Given the description of an element on the screen output the (x, y) to click on. 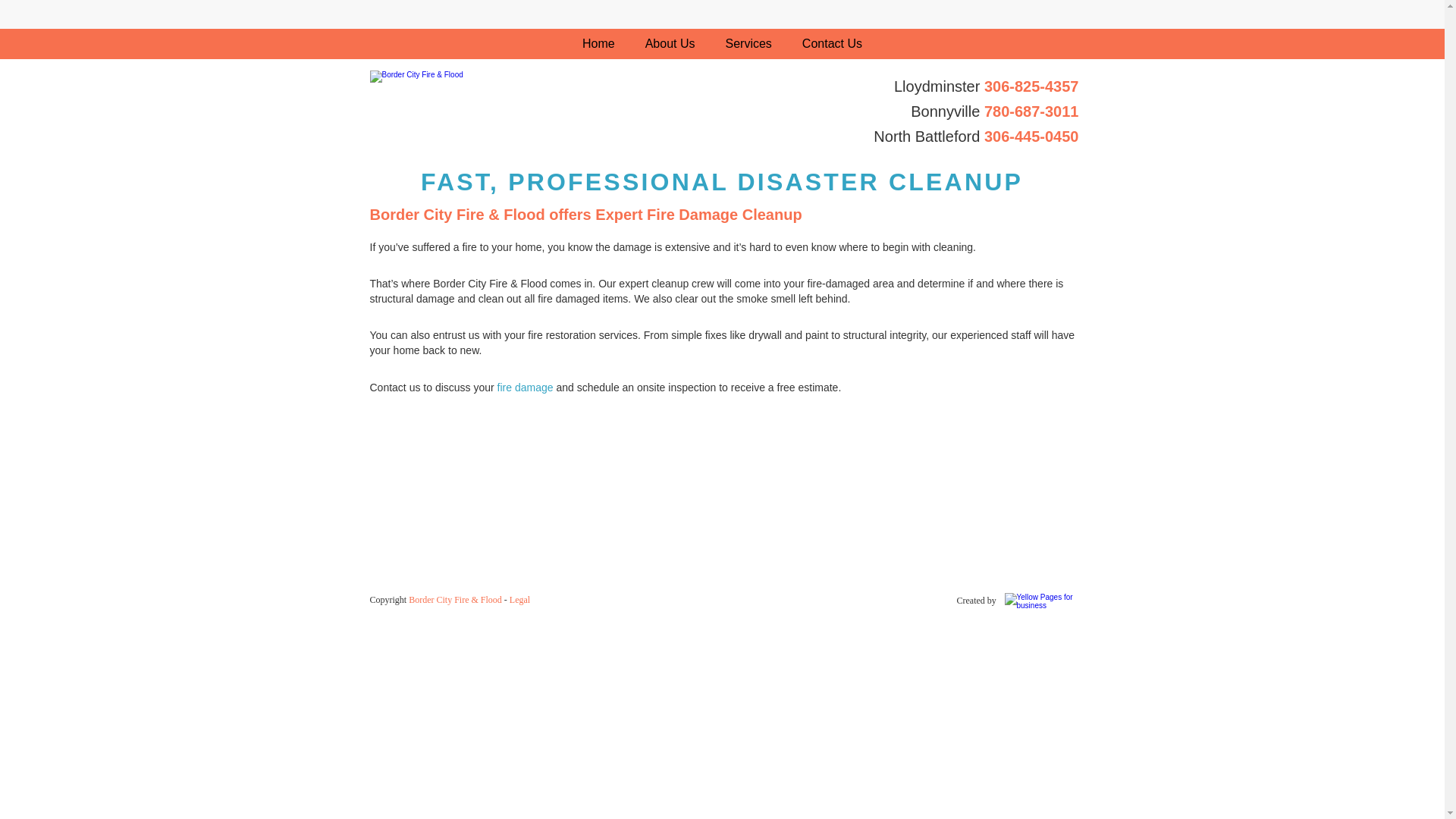
Contact Us Element type: text (832, 43)
About Us Element type: text (670, 43)
Border City Fire & Flood Element type: text (455, 599)
fire damage Element type: text (525, 388)
Home Element type: text (598, 43)
Services Element type: text (747, 43)
Legal Element type: text (519, 600)
